Given the description of an element on the screen output the (x, y) to click on. 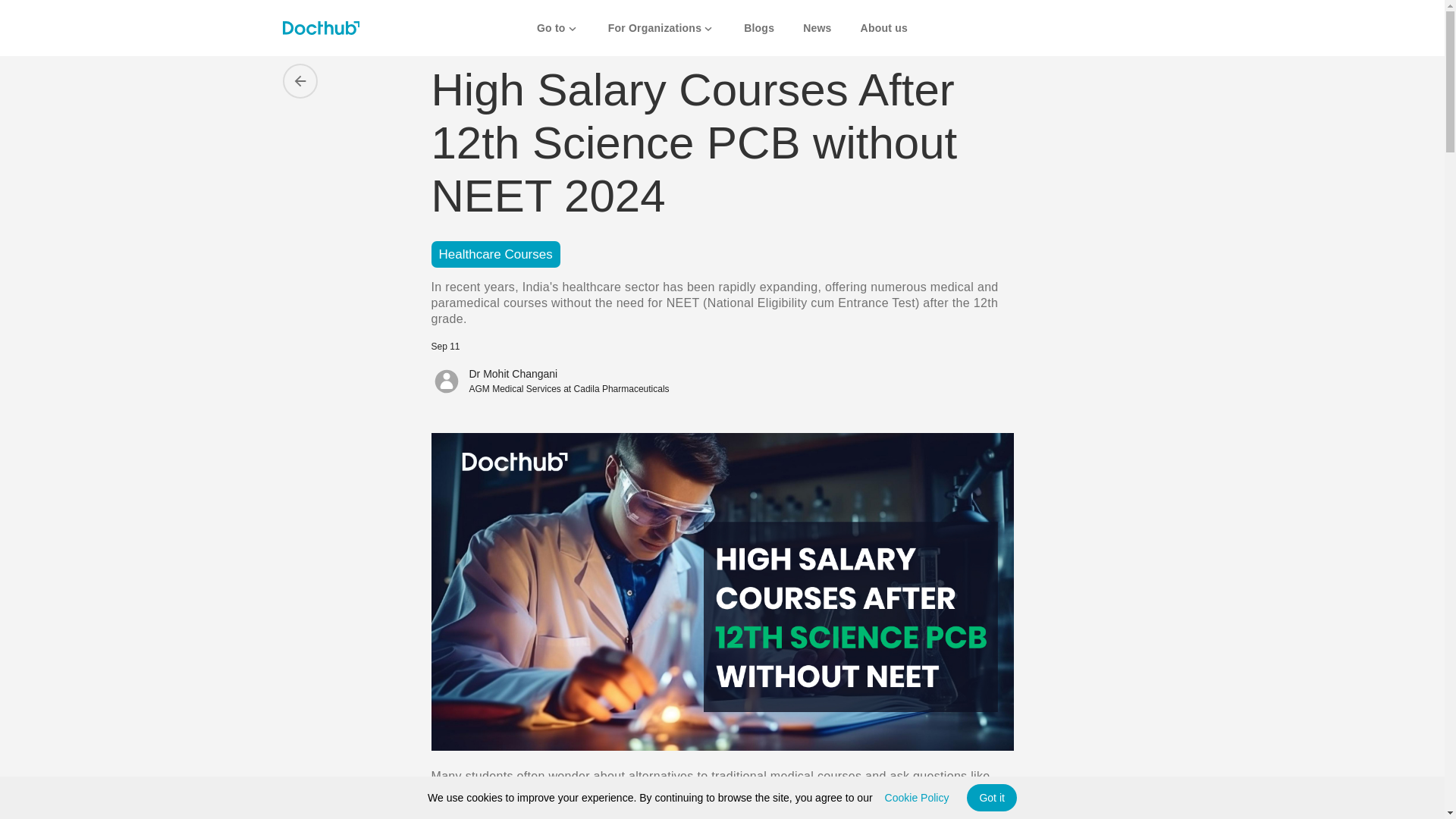
Go to (558, 29)
For Organizations (662, 29)
About us (883, 29)
Blogs (759, 29)
News (817, 29)
